Given the description of an element on the screen output the (x, y) to click on. 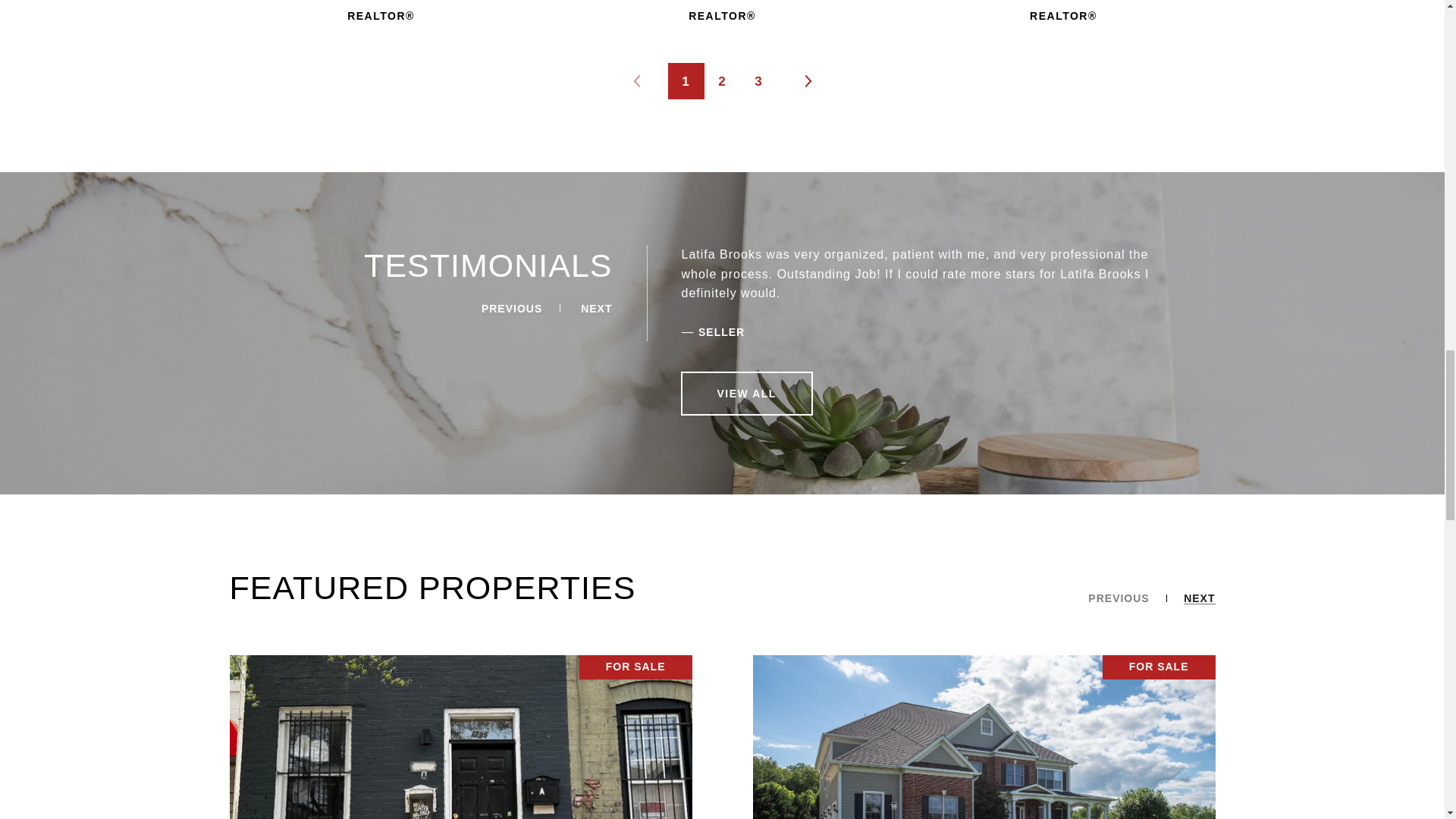
Next page (807, 81)
